Given the description of an element on the screen output the (x, y) to click on. 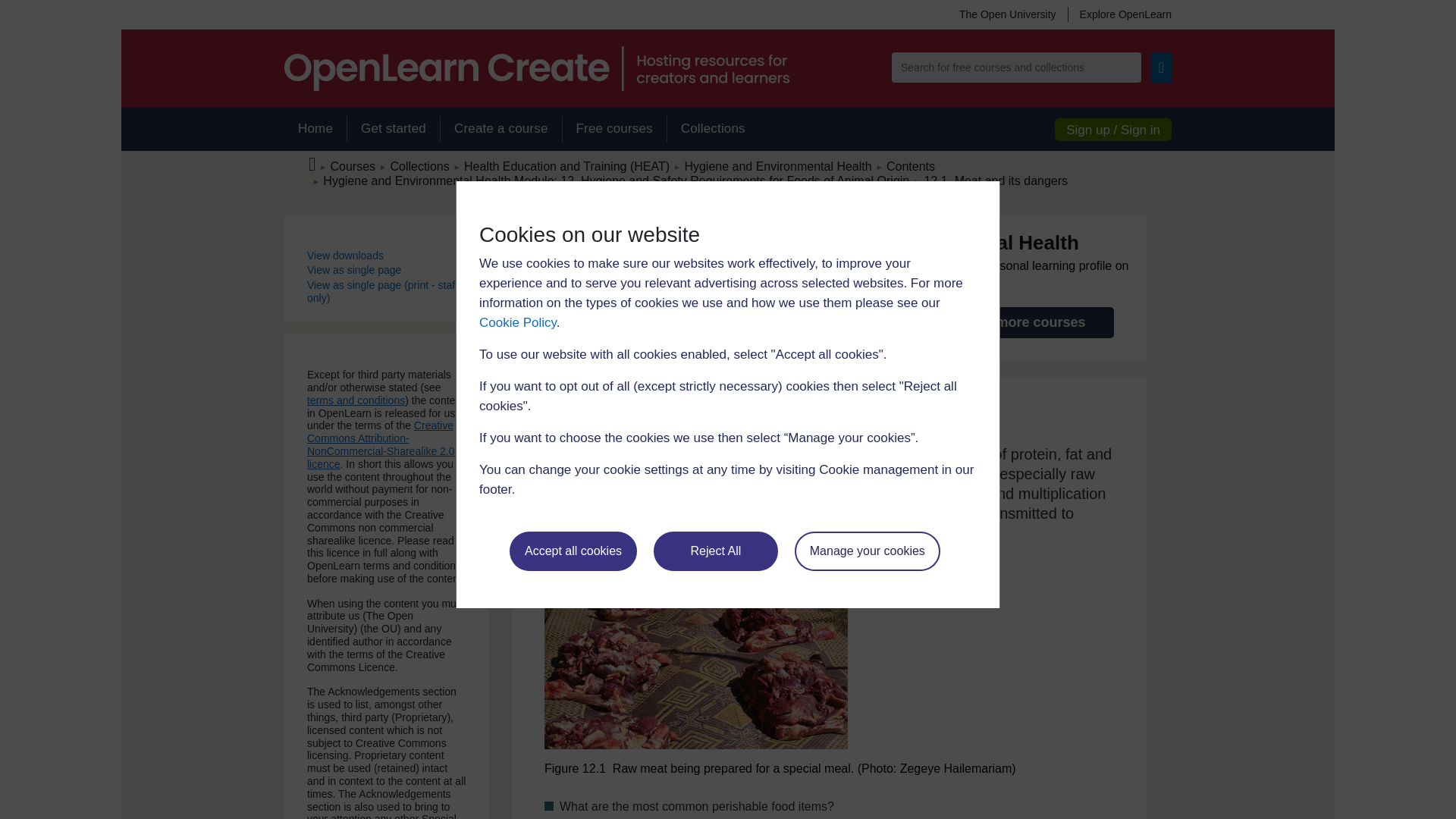
Explore OpenLearn (1119, 14)
Get started (392, 128)
Collections (712, 128)
The Open University (1007, 14)
Create a course (500, 128)
Home (314, 128)
Free courses (614, 128)
Manage your cookies (867, 550)
Cookie Policy (517, 322)
Reject All (715, 550)
OpenLearn Create (536, 67)
Explore OpenLearn (1119, 14)
The Open University (1007, 14)
SC Web Editor (615, 180)
Accept all cookies (573, 550)
